Given the description of an element on the screen output the (x, y) to click on. 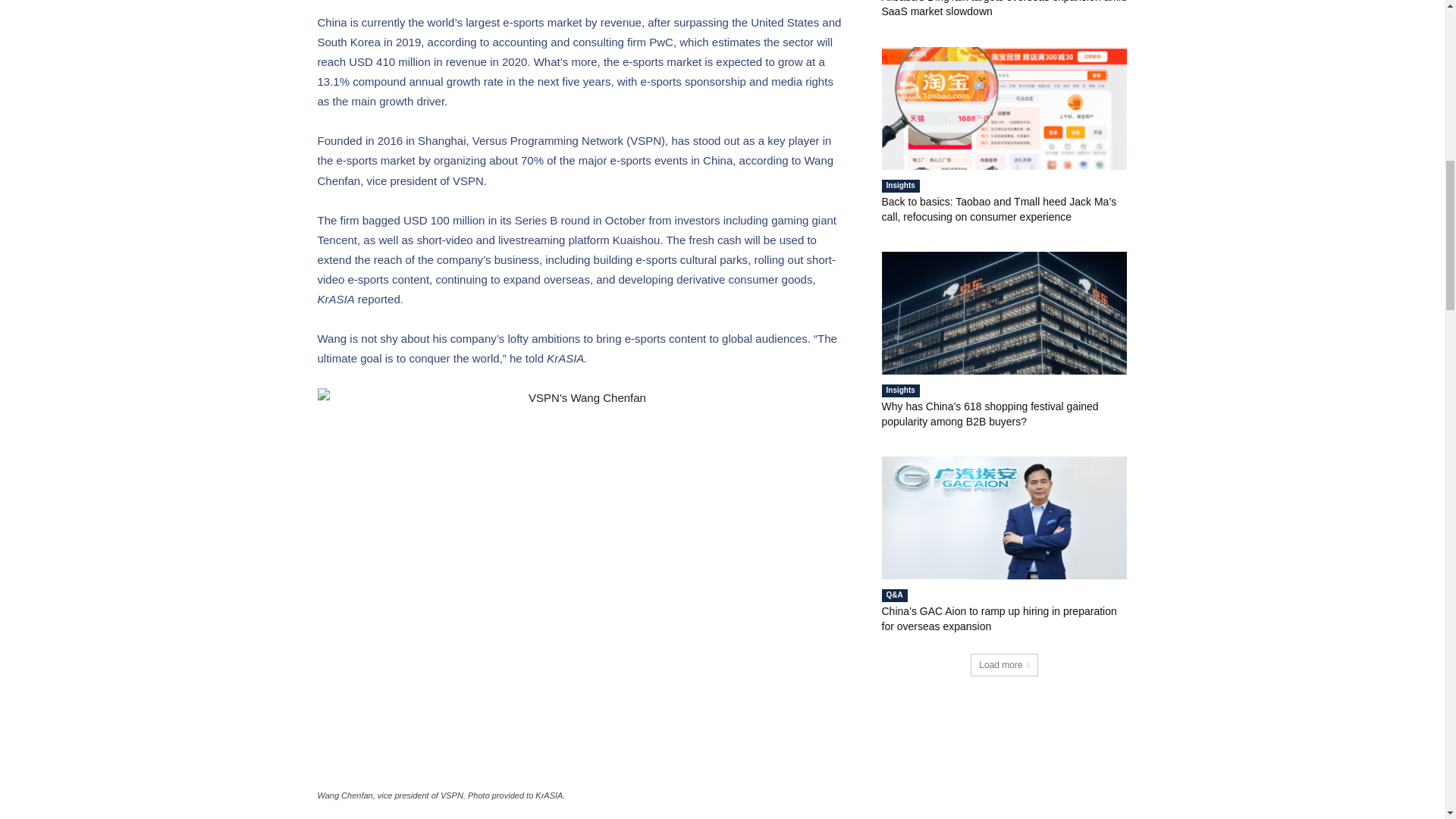
bagged  (382, 219)
USD 410 million in revenue in 2020. (439, 61)
